Given the description of an element on the screen output the (x, y) to click on. 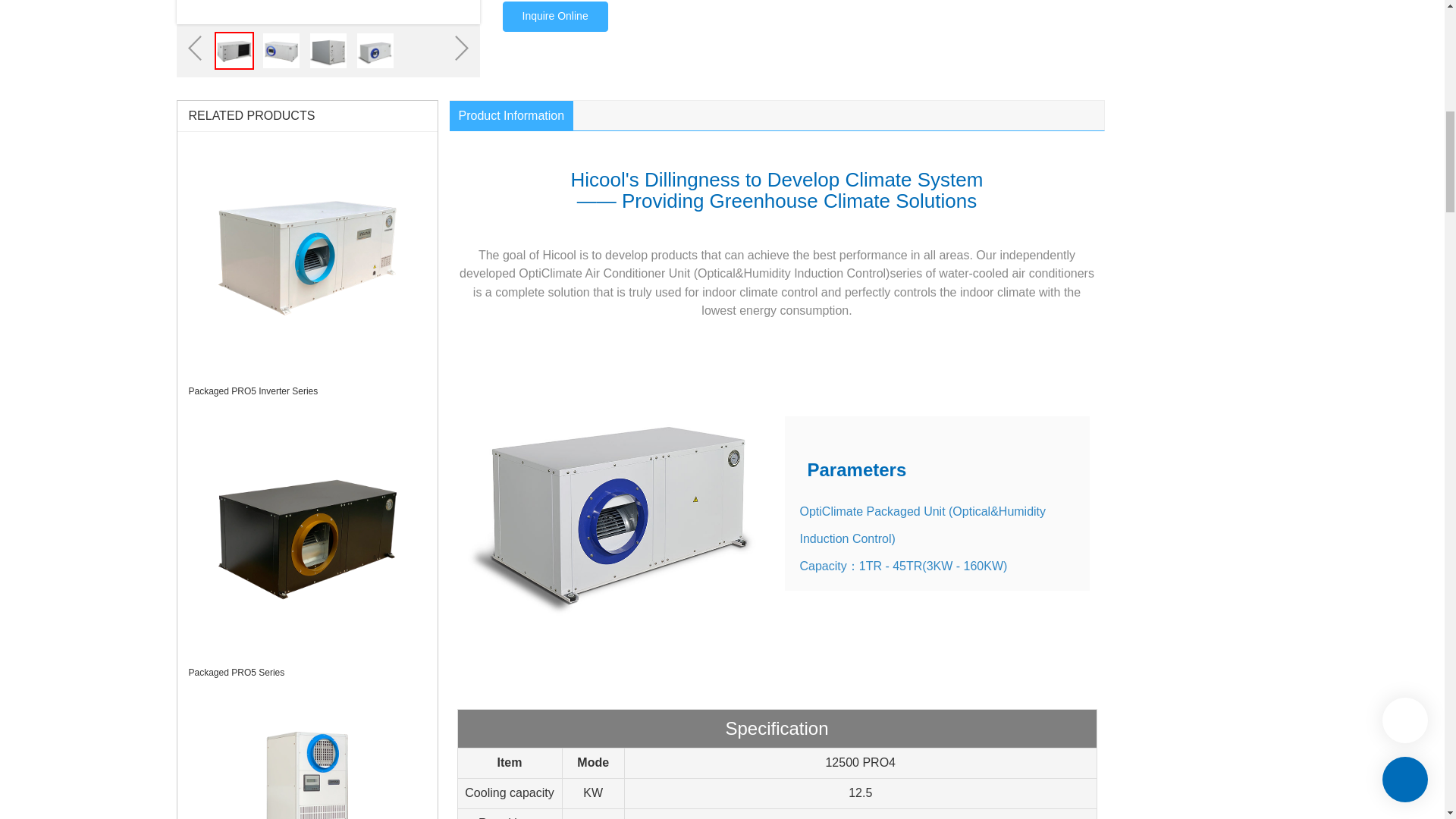
Inquire Online (554, 16)
